Given the description of an element on the screen output the (x, y) to click on. 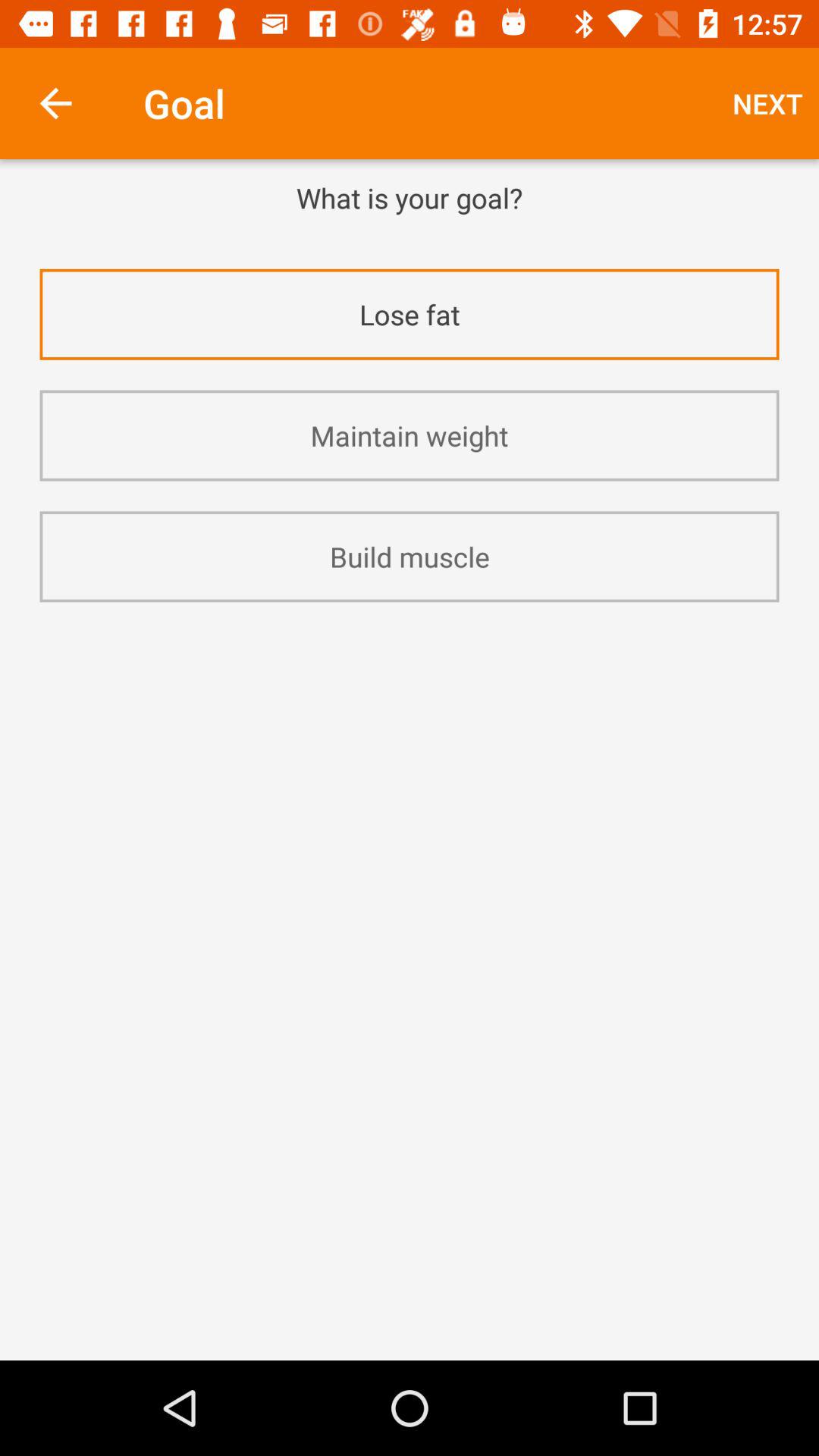
turn on lose fat icon (409, 314)
